Given the description of an element on the screen output the (x, y) to click on. 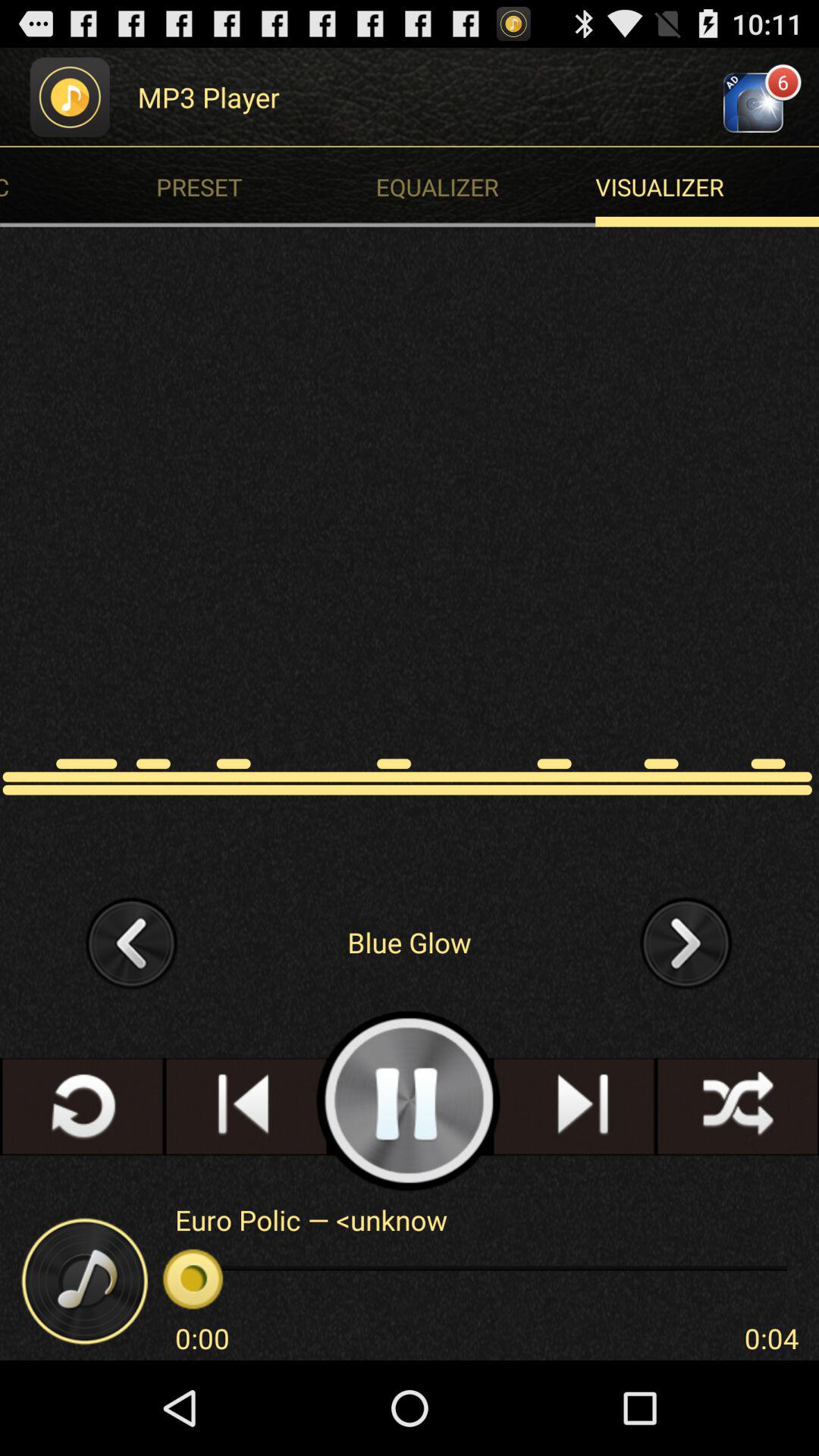
press the app below the mp3 player (269, 186)
